Given the description of an element on the screen output the (x, y) to click on. 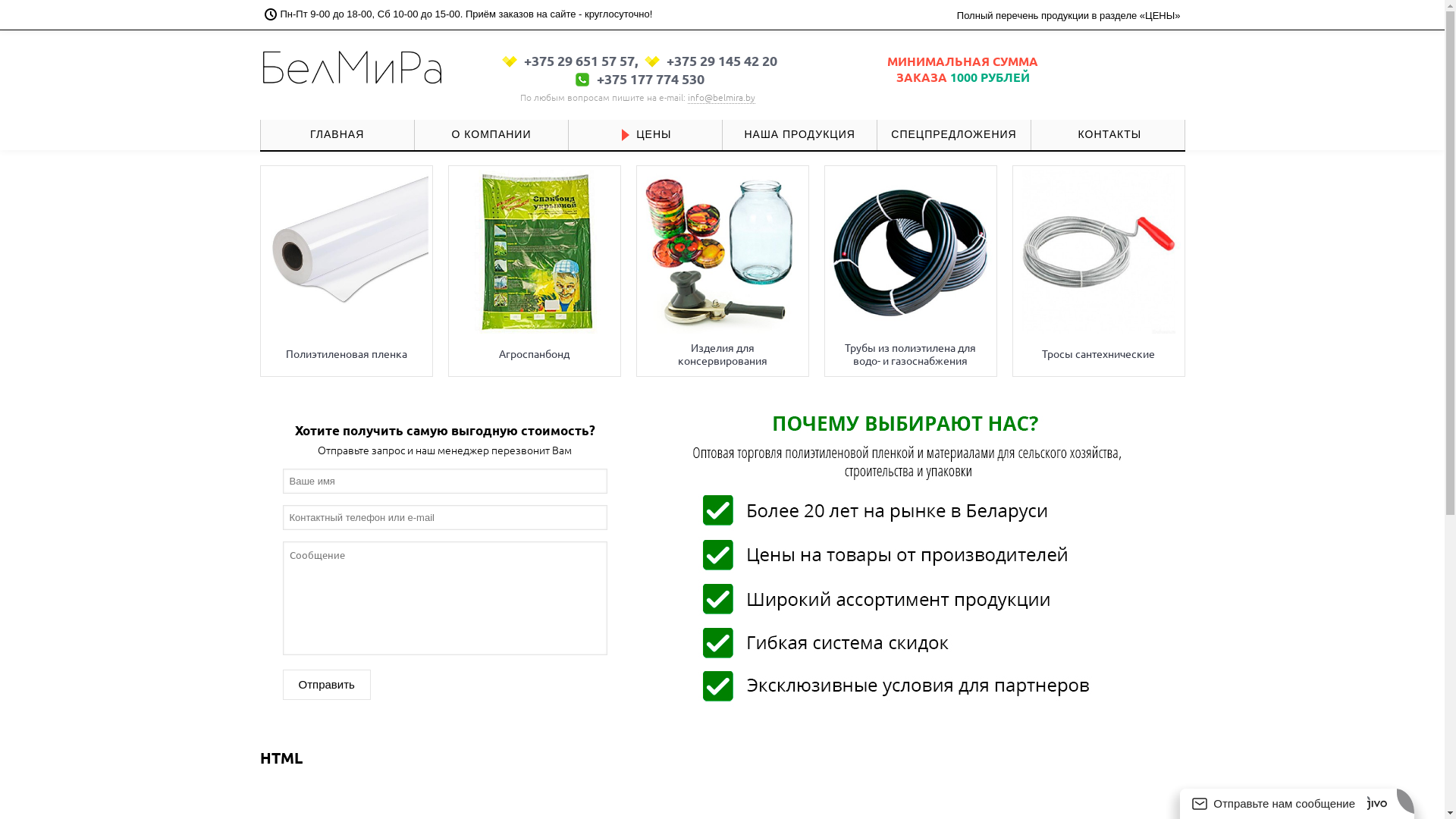
info@belmira.by Element type: text (721, 97)
